Given the description of an element on the screen output the (x, y) to click on. 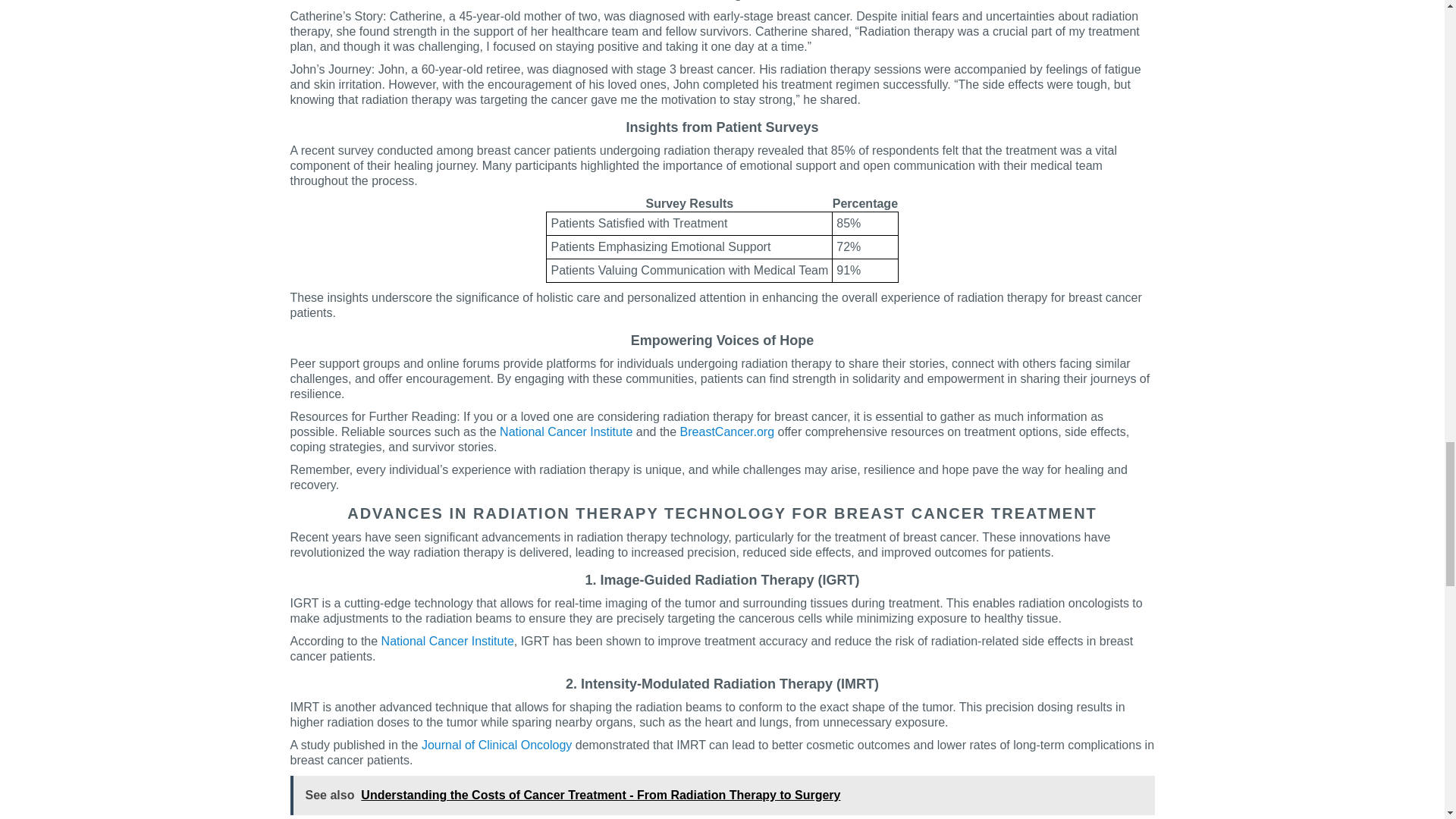
Journal of Clinical Oncology (497, 744)
National Cancer Institute (447, 640)
BreastCancer.org (726, 431)
National Cancer Institute (565, 431)
